Given the description of an element on the screen output the (x, y) to click on. 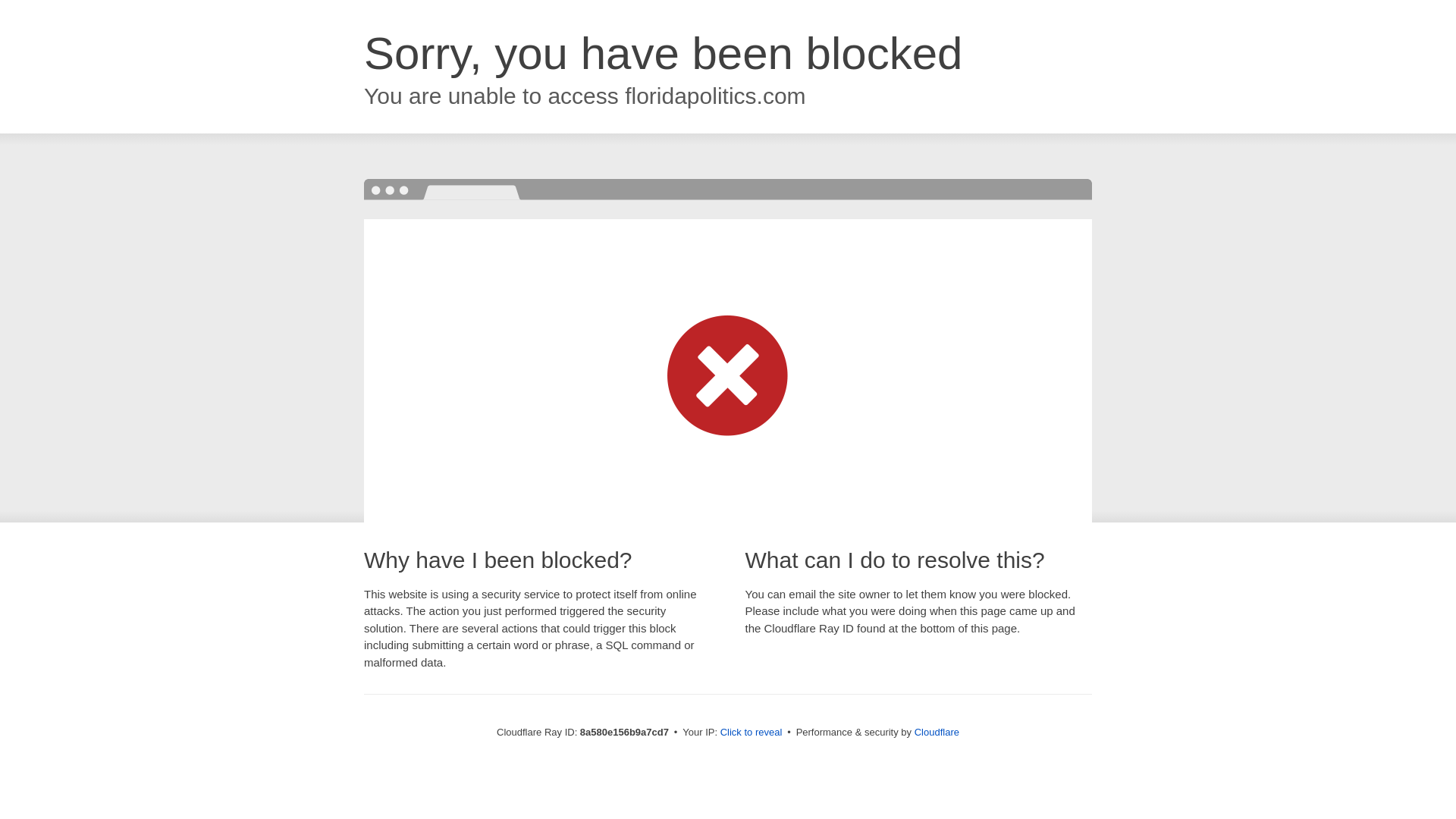
Cloudflare (936, 731)
Click to reveal (751, 732)
